Given the description of an element on the screen output the (x, y) to click on. 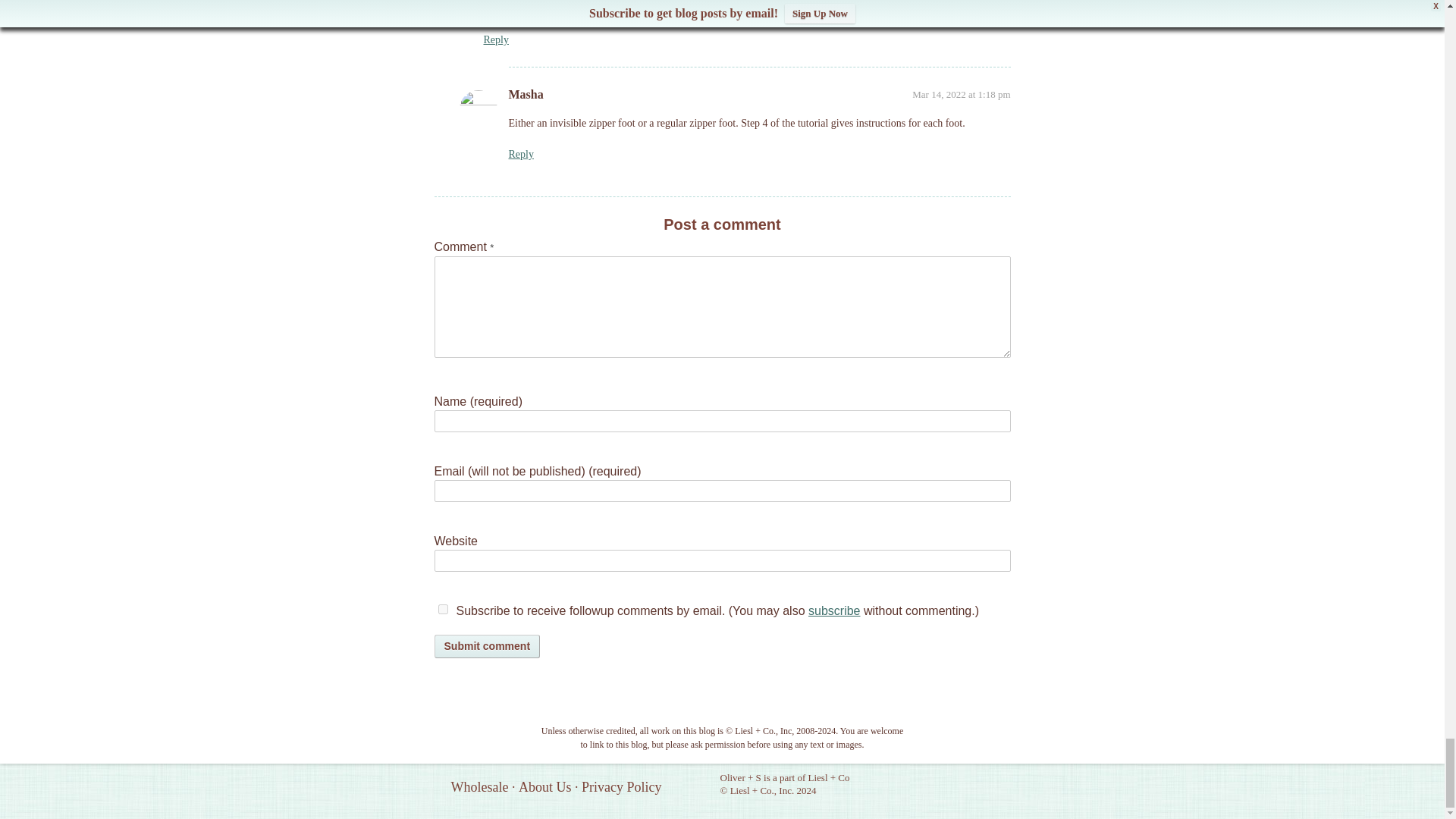
Submit comment (486, 646)
yes (442, 609)
